Given the description of an element on the screen output the (x, y) to click on. 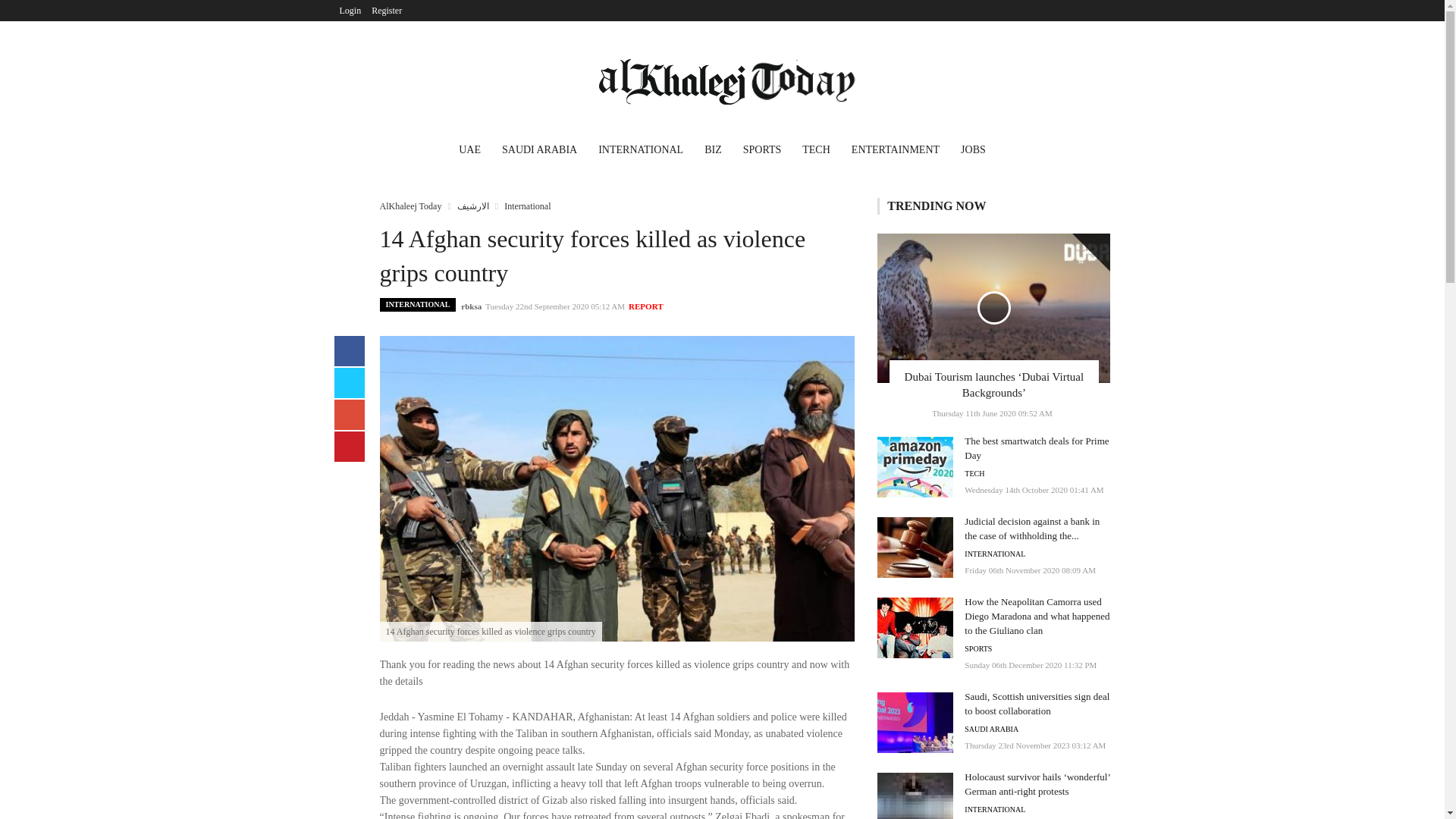
TECH (816, 151)
14 Afghan security forces killed as violence grips country (616, 487)
REPORT (645, 306)
INTERNATIONAL (416, 305)
SAUDI ARABIA (540, 151)
Login (349, 10)
SPORTS (762, 151)
International (526, 205)
Register (386, 10)
rbksa (471, 306)
